Given the description of an element on the screen output the (x, y) to click on. 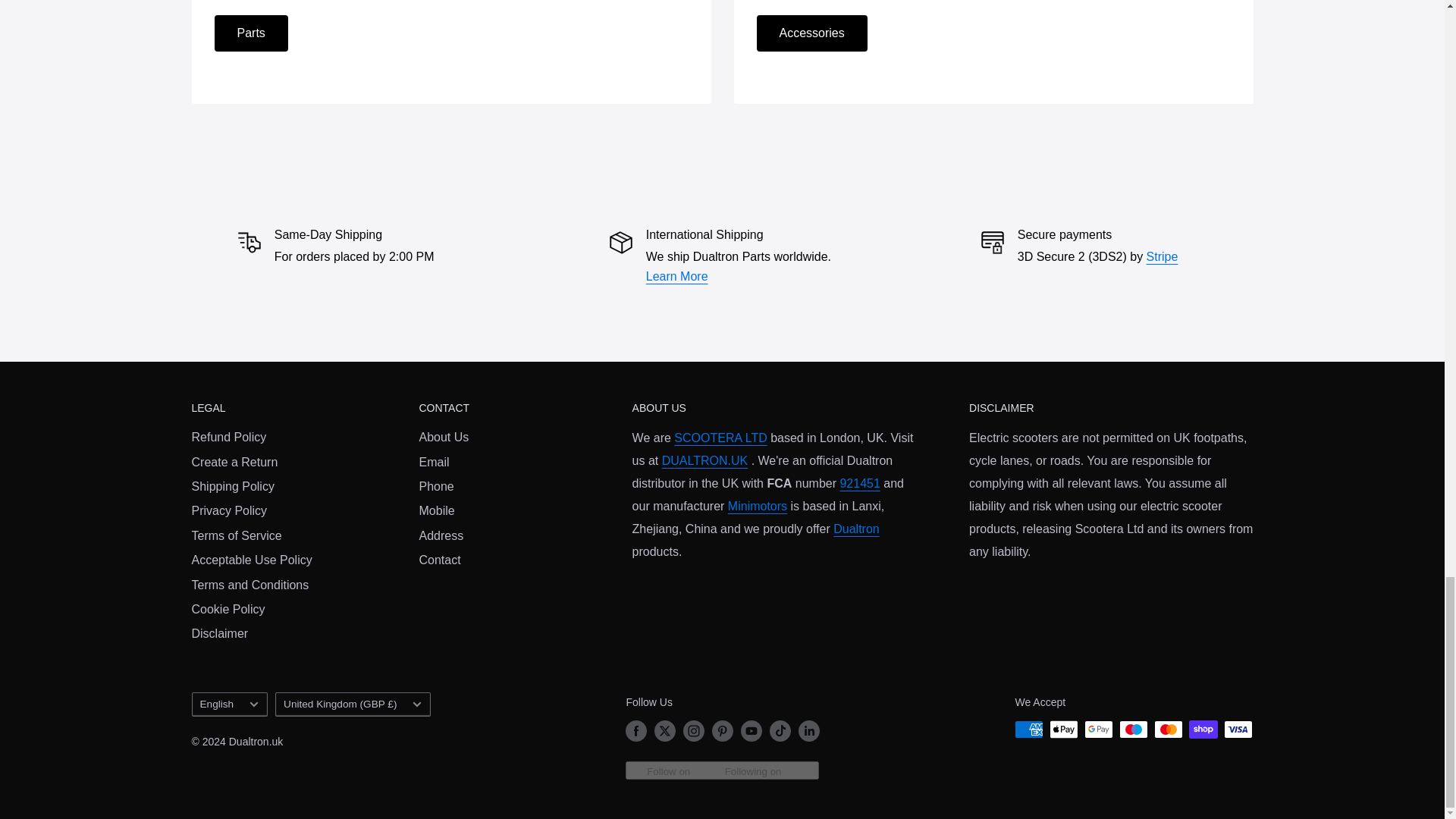
Minimotors China Official Website (757, 505)
Dualtron Electric Scooters (855, 528)
